Given the description of an element on the screen output the (x, y) to click on. 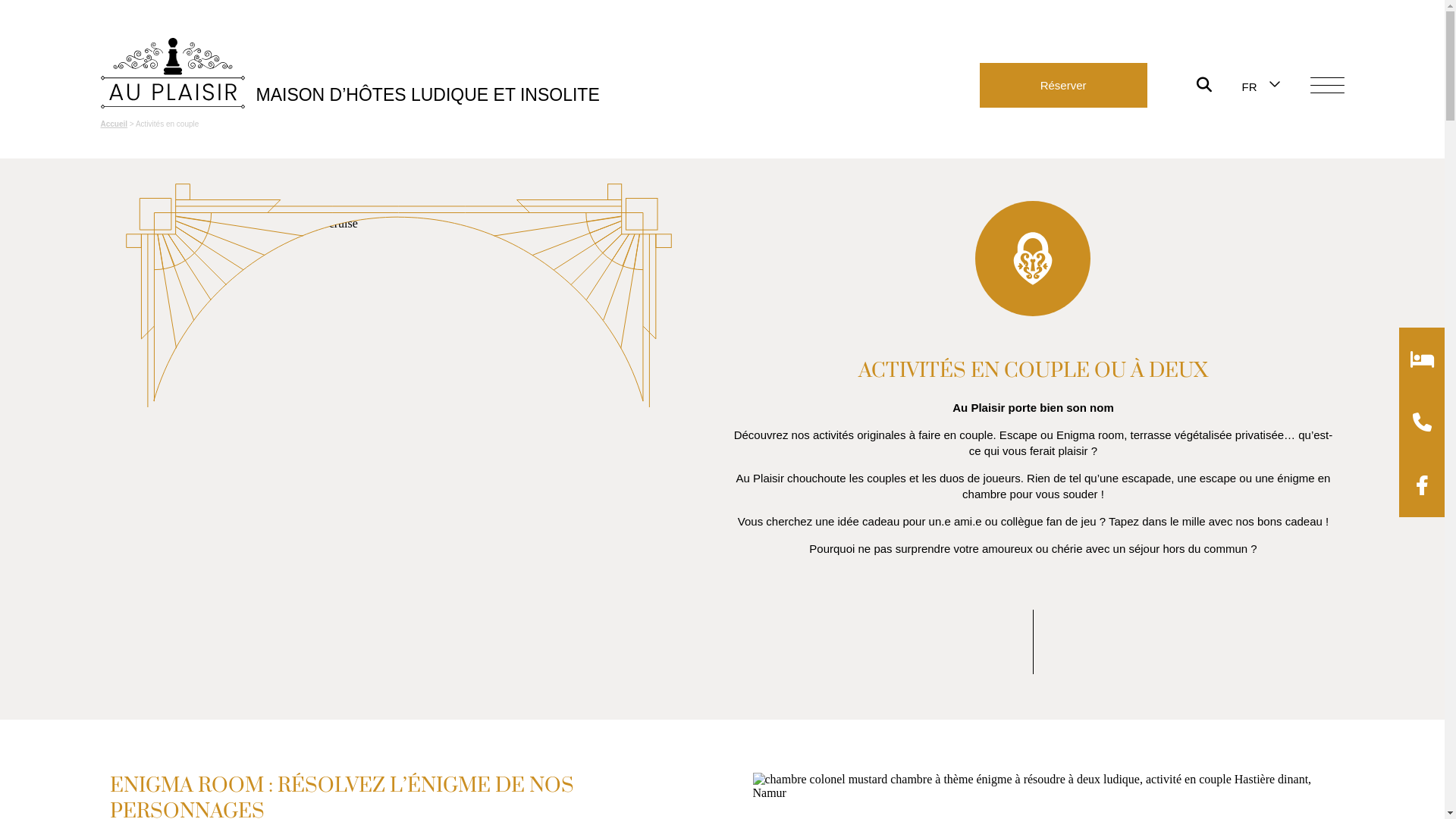
Accueil Element type: text (113, 123)
Au plaisir Element type: hover (172, 73)
FR Element type: text (1249, 86)
